Given the description of an element on the screen output the (x, y) to click on. 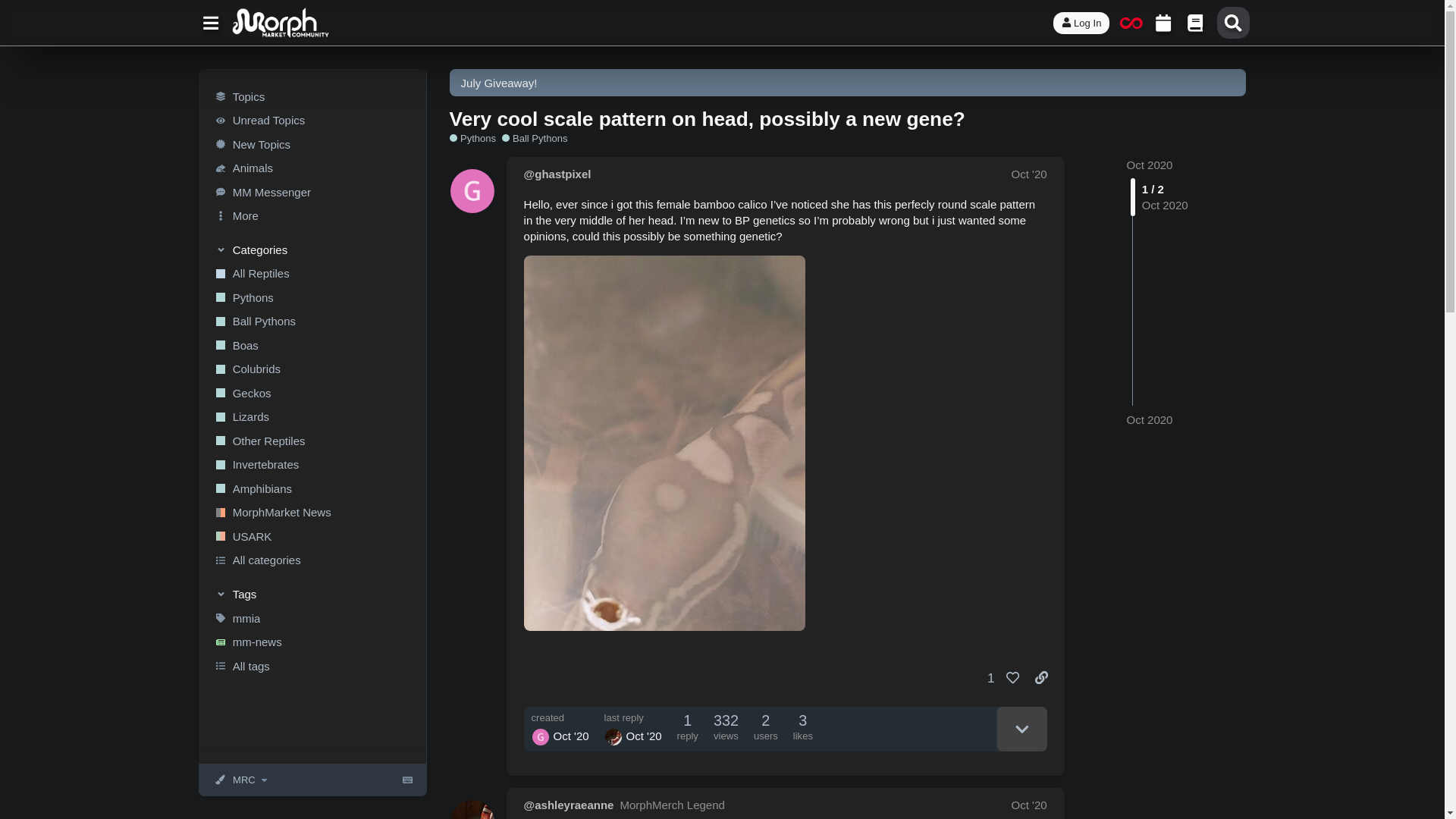
Amphibians (311, 488)
Categories (312, 249)
All topics (311, 96)
ColdBlooded (1131, 22)
Topics (311, 96)
Lizards (311, 416)
Animals (311, 168)
Tags (312, 593)
USARK (311, 536)
More (311, 215)
Morphpedia (1195, 22)
Pythons (311, 297)
New Topics (311, 143)
mm-news (311, 641)
